Given the description of an element on the screen output the (x, y) to click on. 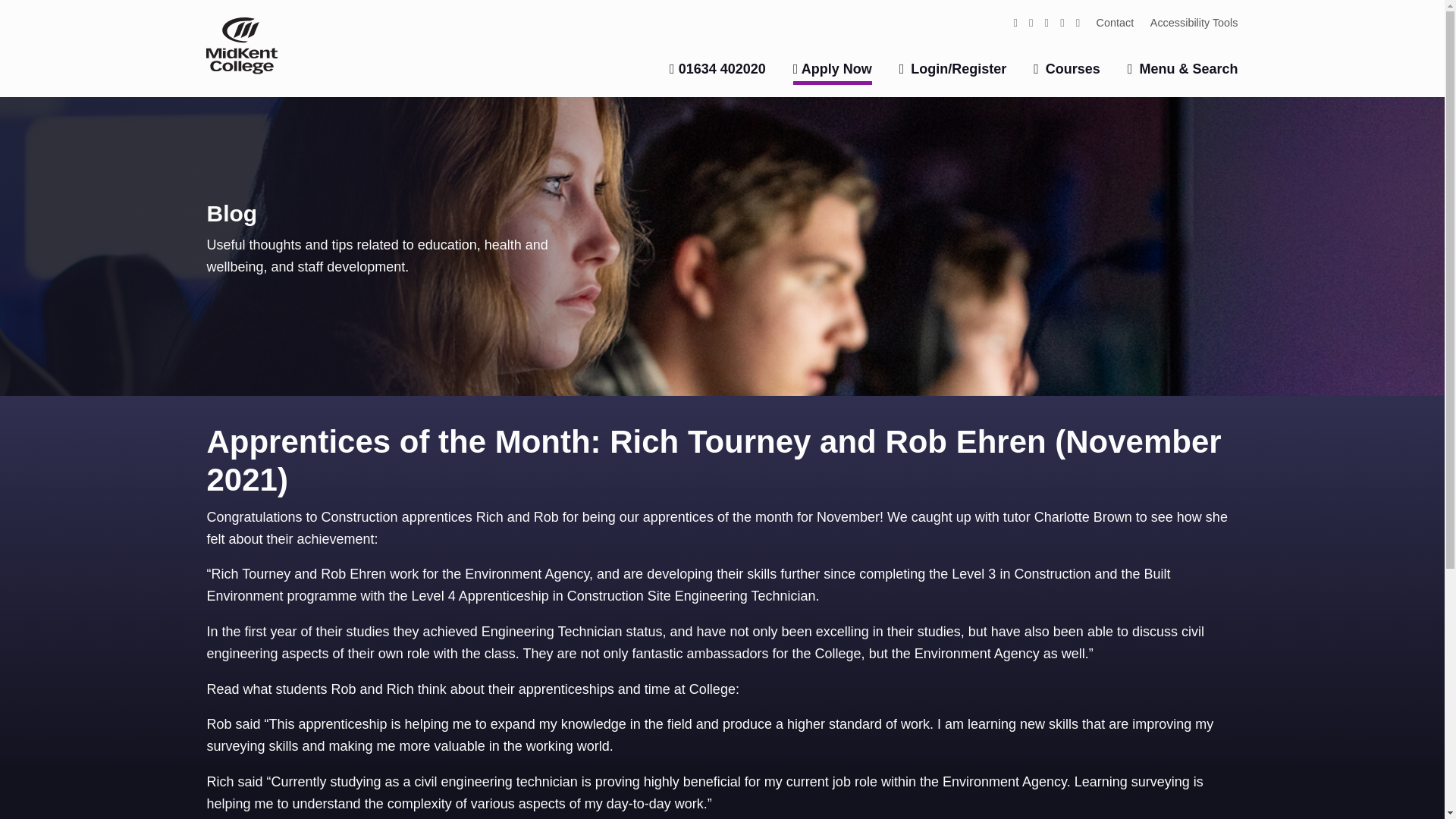
 Apply Now (832, 73)
Courses (1066, 69)
Accessibility Tools (1194, 21)
 01634 402020 (717, 68)
Contact (1115, 21)
